Given the description of an element on the screen output the (x, y) to click on. 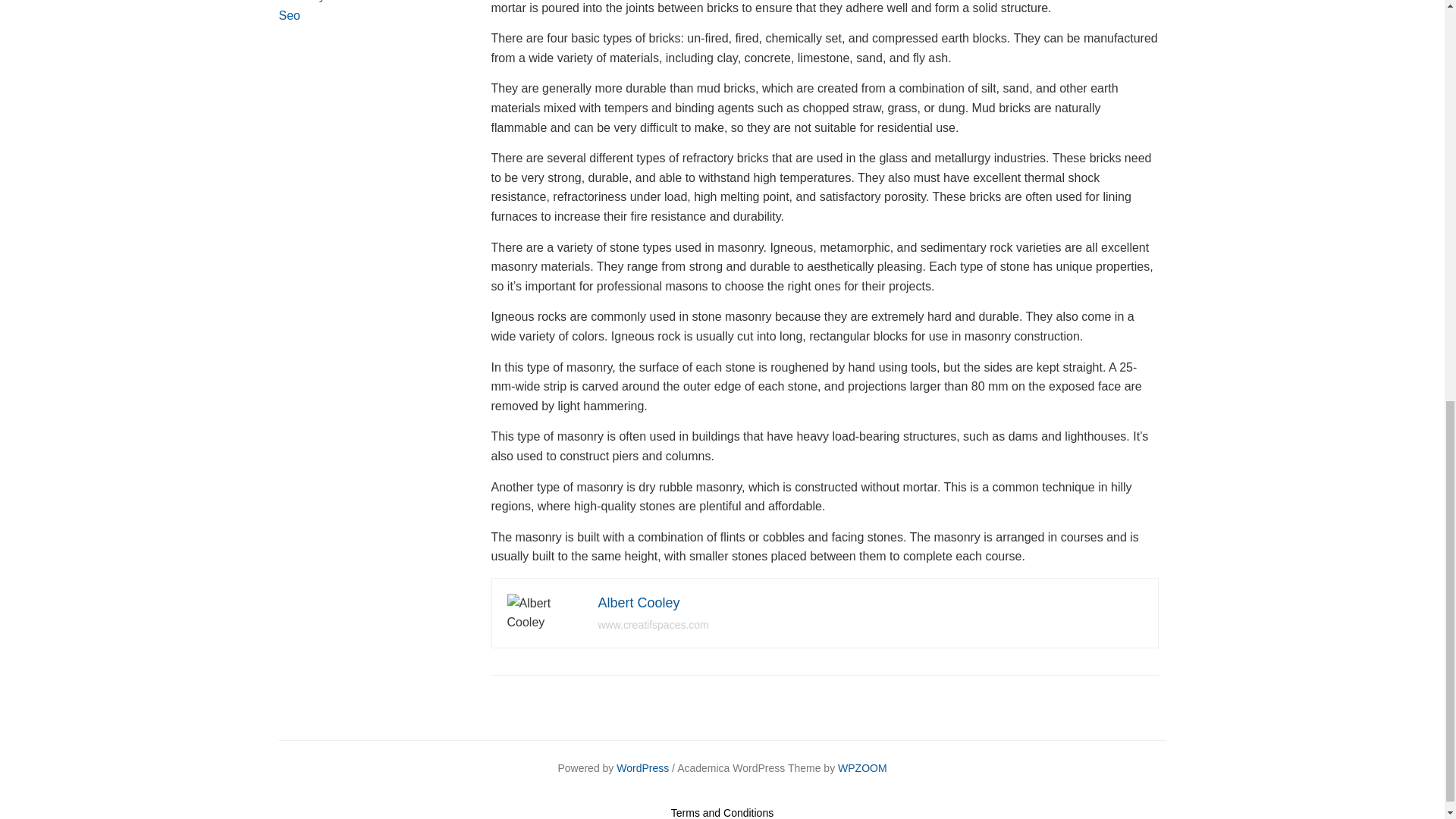
Seo (289, 15)
Masonry (301, 1)
Albert Cooley (637, 602)
WordPress (641, 767)
www.creatifspaces.com (651, 624)
WPZOOM (862, 767)
